Given the description of an element on the screen output the (x, y) to click on. 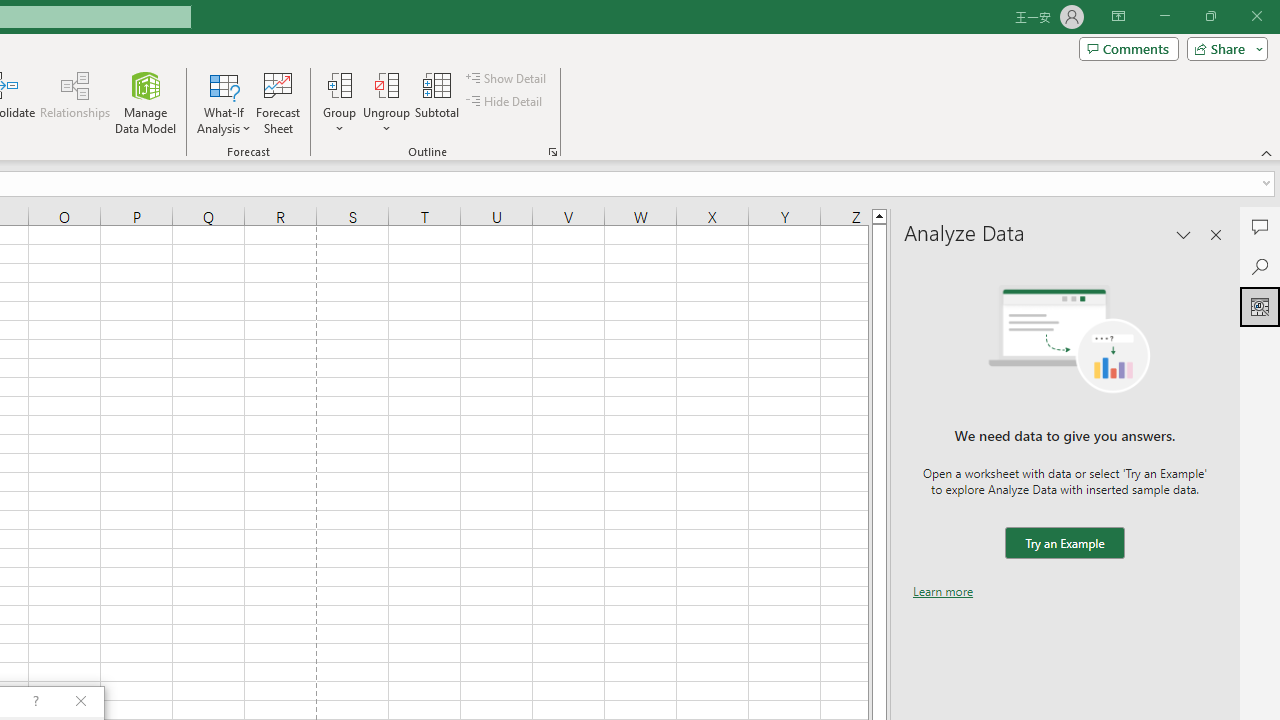
Share (1223, 48)
Close (1256, 16)
Task Pane Options (1183, 234)
Forecast Sheet (278, 102)
Restore Down (1210, 16)
Comments (1128, 48)
Subtotal (437, 102)
Learn more (943, 591)
What-If Analysis (223, 102)
Search (1260, 266)
Ribbon Display Options (1118, 16)
Hide Detail (505, 101)
Group... (339, 102)
Collapse the Ribbon (1267, 152)
